Given the description of an element on the screen output the (x, y) to click on. 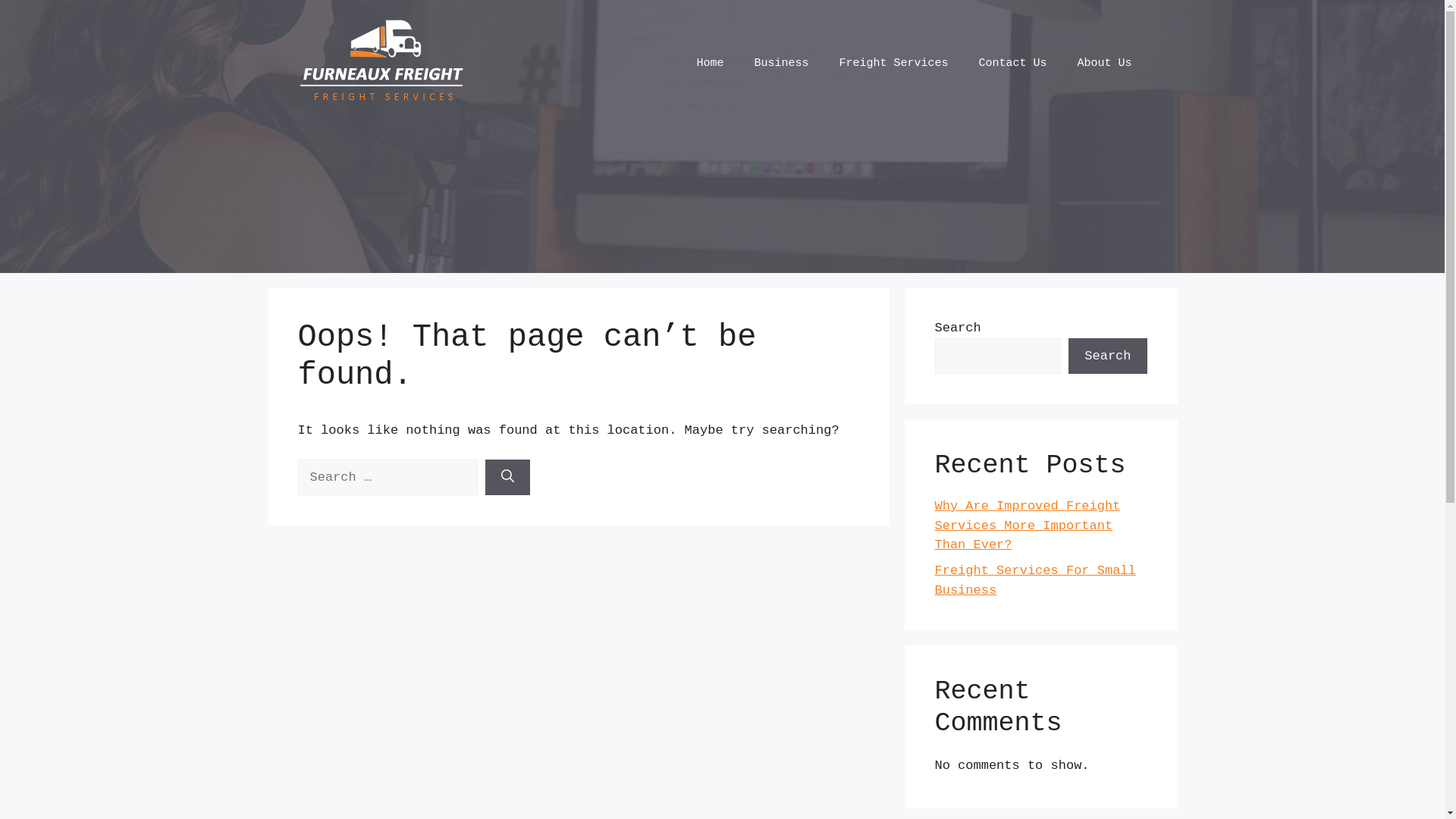
Home Element type: text (709, 63)
About Us Element type: text (1103, 63)
Search Element type: text (1107, 356)
Freight Services For Small Business Element type: text (1034, 580)
Freight Services Element type: text (893, 63)
Furneaux Freight Element type: hover (382, 63)
Furneaux Freight Element type: hover (382, 63)
Contact Us Element type: text (1012, 63)
Why Are Improved Freight Services More Important Than Ever? Element type: text (1027, 525)
Business Element type: text (780, 63)
Search for: Element type: hover (386, 477)
